Given the description of an element on the screen output the (x, y) to click on. 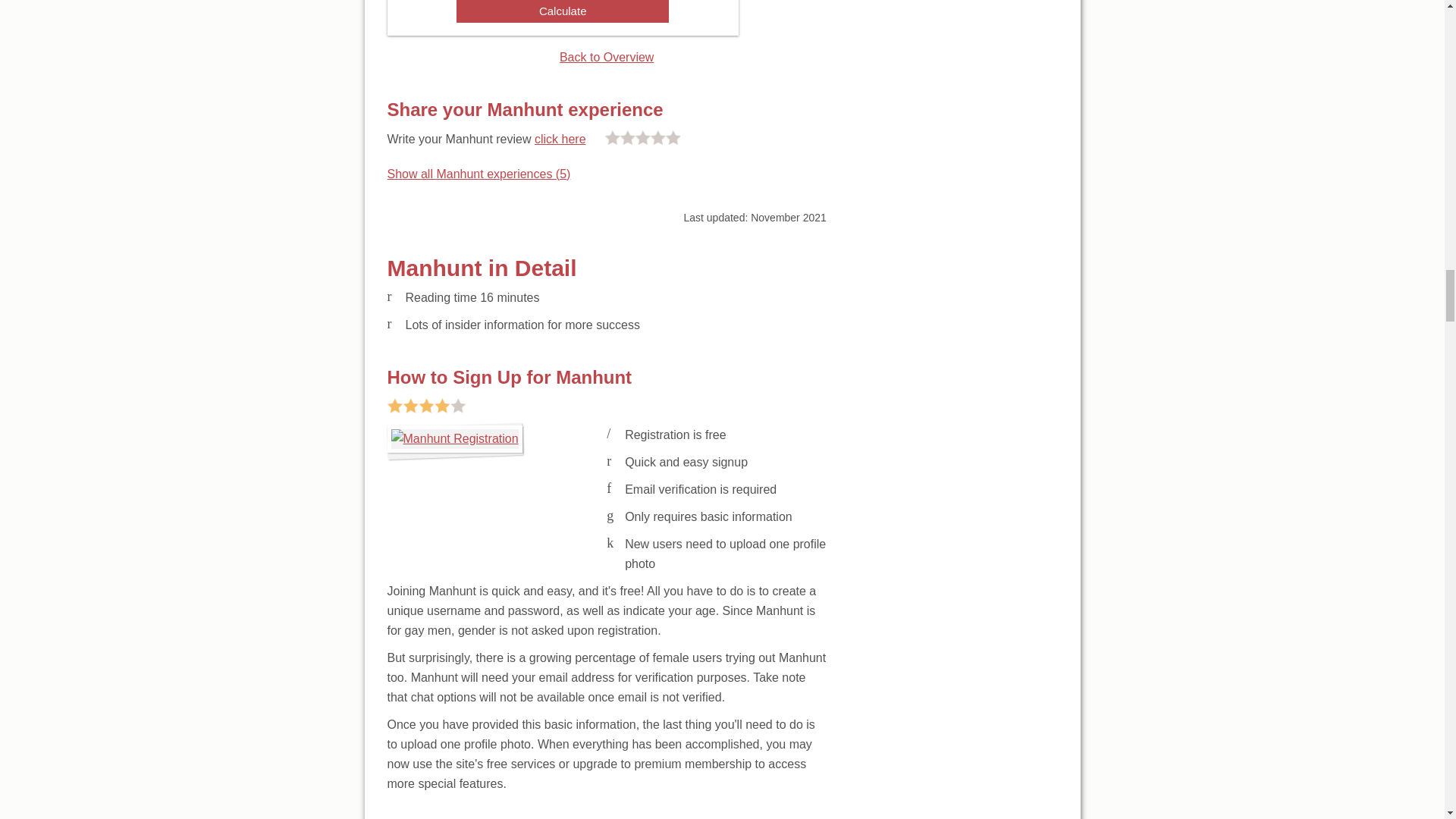
Calculate (562, 11)
